Given the description of an element on the screen output the (x, y) to click on. 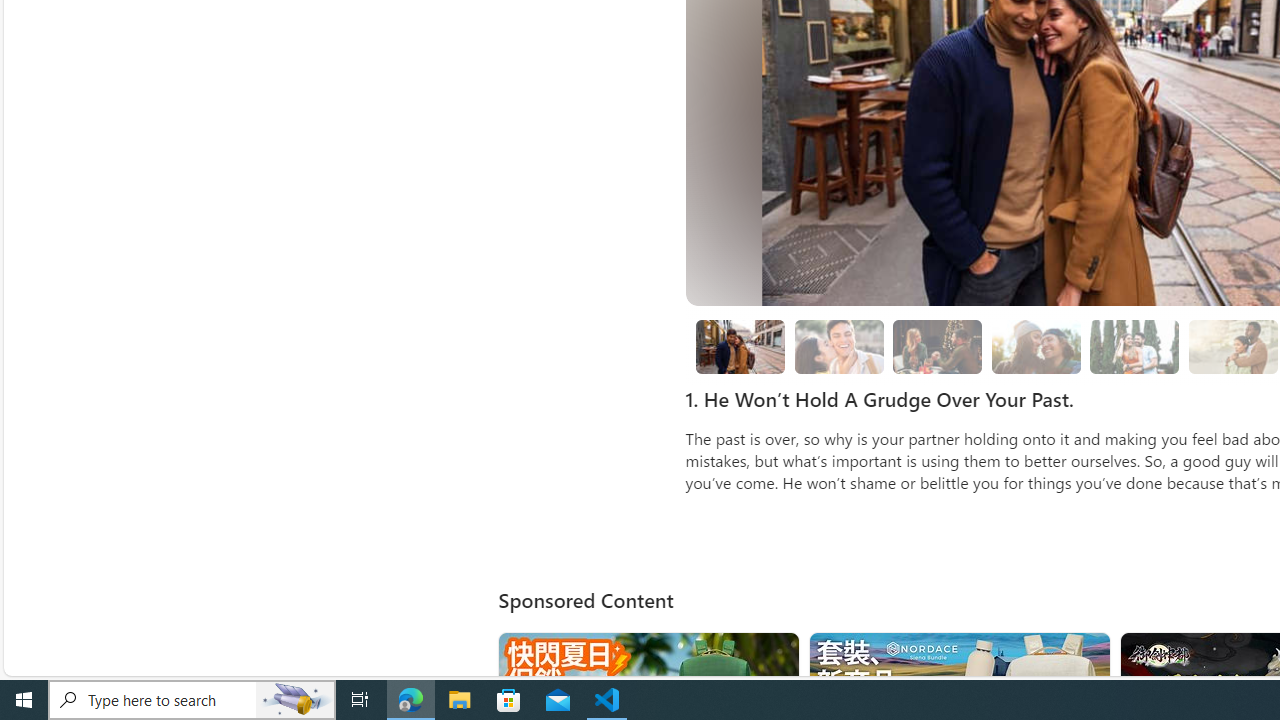
boyfriend holding girlfriend close sunshine (1232, 346)
Class: progress (1134, 343)
See more (1086, 656)
